Given the description of an element on the screen output the (x, y) to click on. 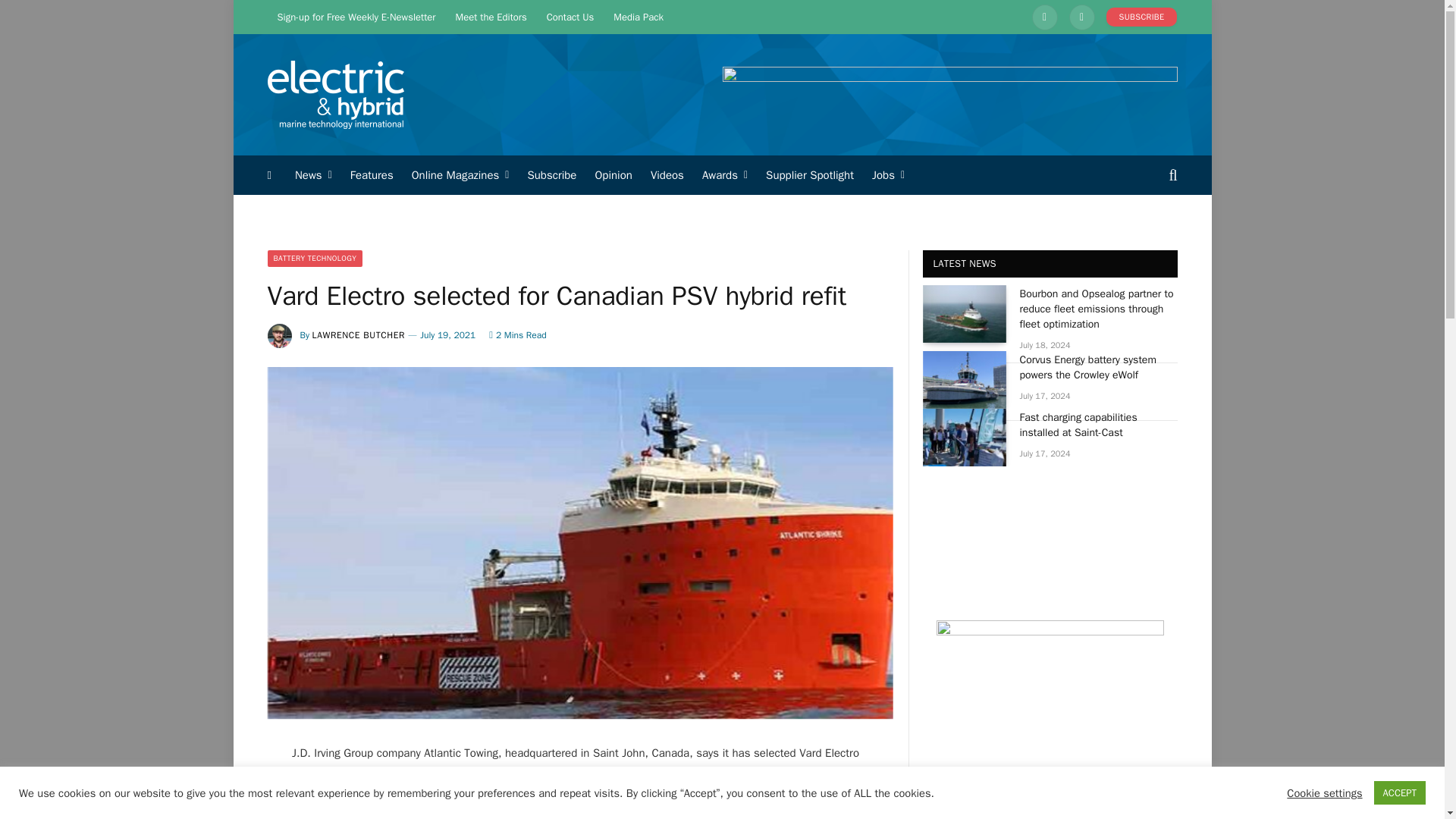
Electric Hybrid Marine Technology (334, 94)
Meet the Editors (491, 17)
Media Pack (638, 17)
LinkedIn (1045, 17)
SUBSCRIBE (1141, 16)
Contact Us (570, 17)
Posts by Lawrence Butcher (359, 335)
News (312, 174)
Sign-up for Free Weekly E-Newsletter (355, 17)
Facebook (1081, 17)
